Given the description of an element on the screen output the (x, y) to click on. 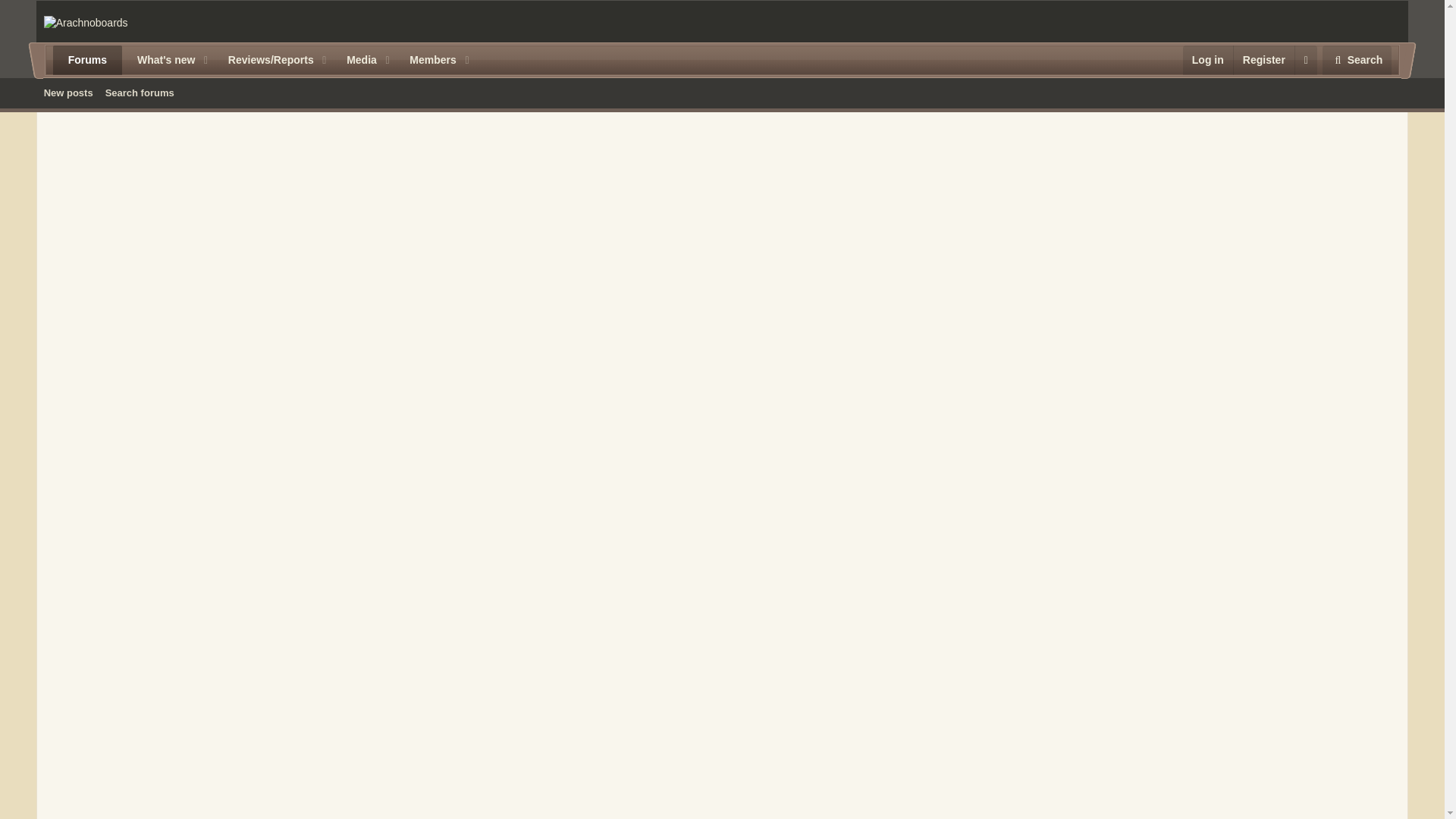
Search (1356, 60)
New posts (68, 92)
Forums (87, 60)
Media (355, 60)
Register (1263, 60)
Search forums (139, 92)
Log in (1207, 60)
Members (722, 92)
What's new (427, 60)
Search (160, 60)
